Given the description of an element on the screen output the (x, y) to click on. 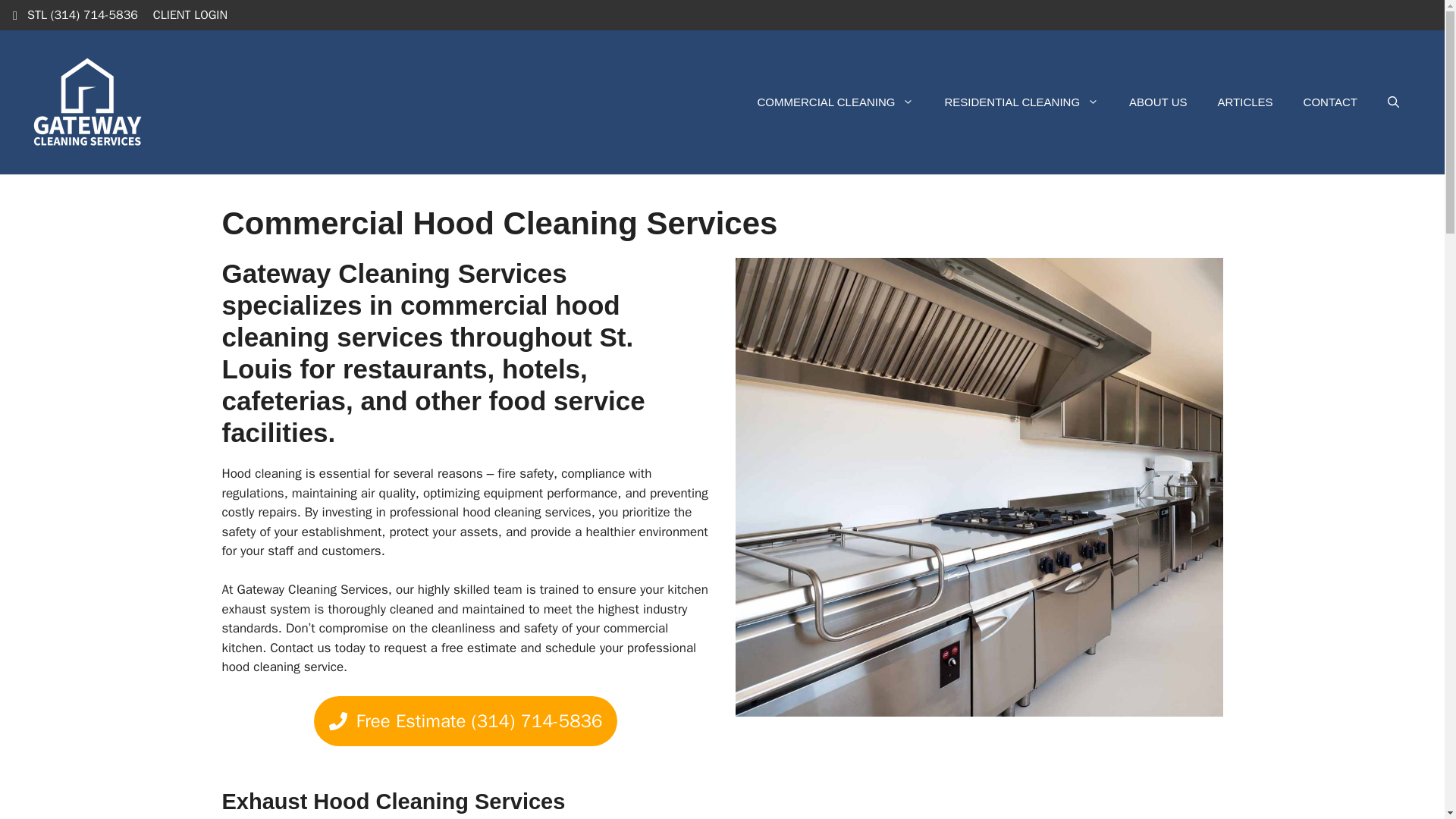
RESIDENTIAL CLEANING (1020, 102)
CONTACT (1330, 102)
ABOUT US (1157, 102)
CLIENT LOGIN (189, 15)
COMMERCIAL CLEANING (834, 102)
ARTICLES (1245, 102)
